Given the description of an element on the screen output the (x, y) to click on. 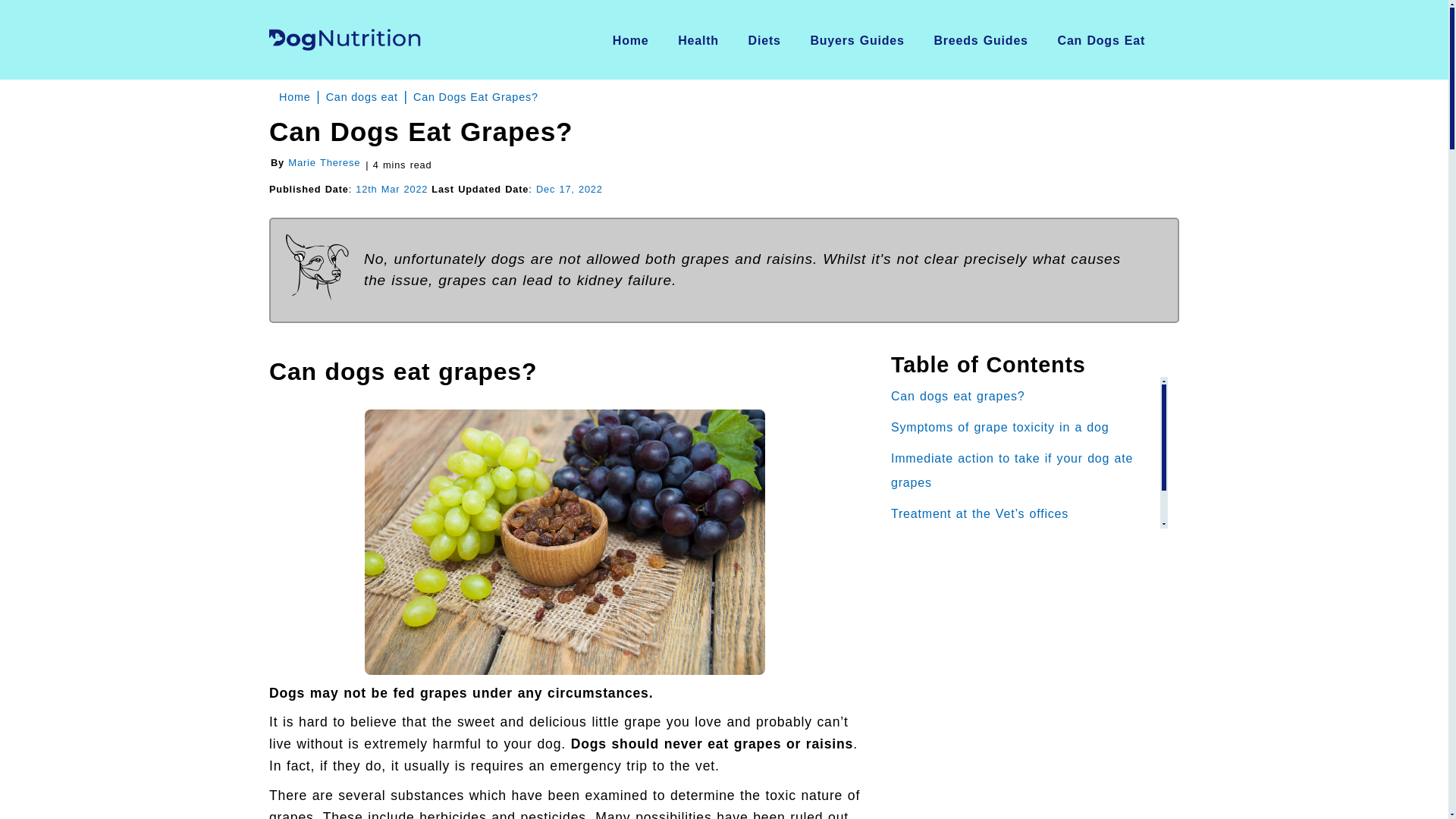
Buyers Guides (856, 40)
Diets (764, 40)
Home (630, 40)
Health (698, 40)
